Given the description of an element on the screen output the (x, y) to click on. 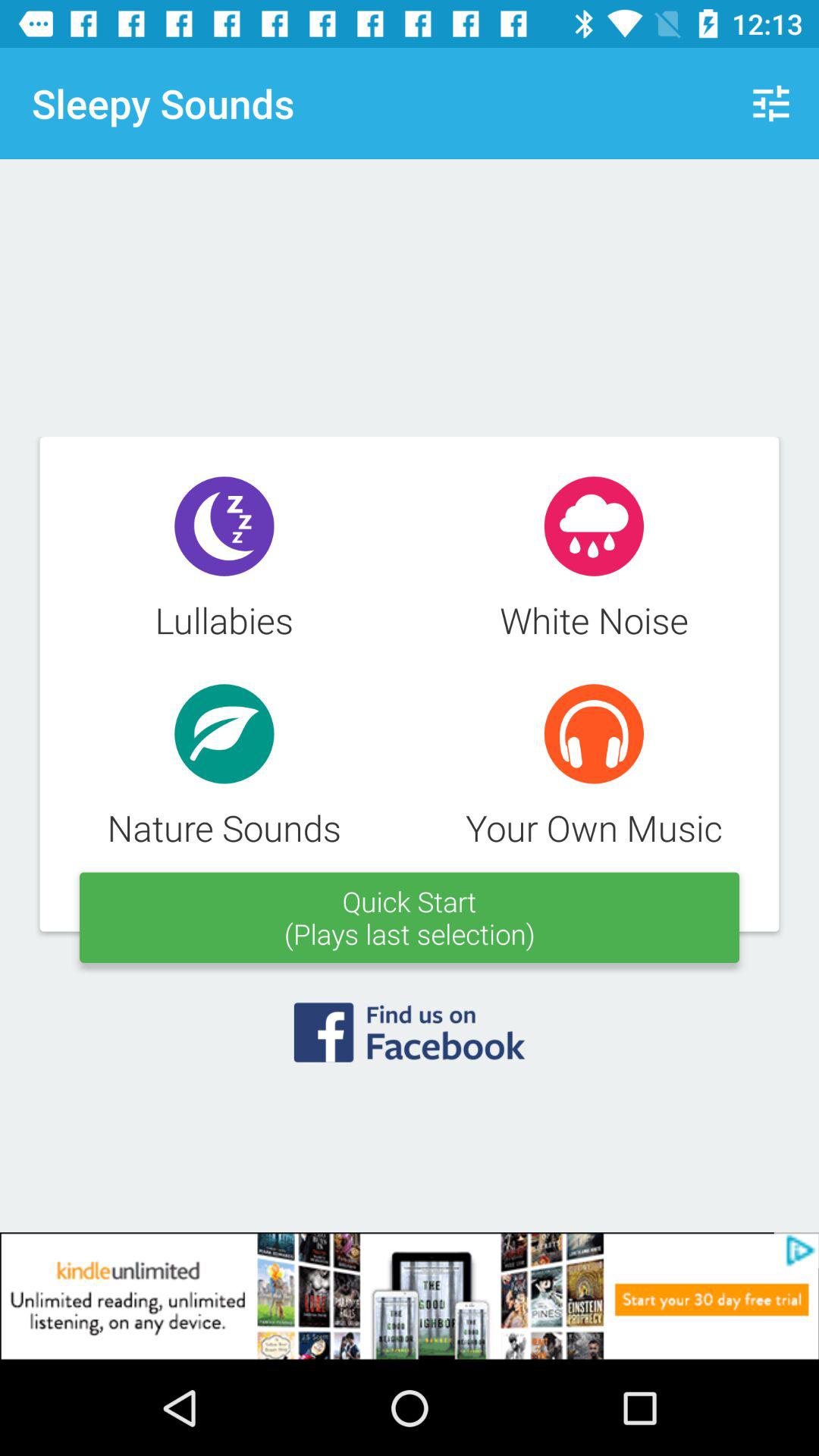
facebook advertisement (409, 1042)
